Given the description of an element on the screen output the (x, y) to click on. 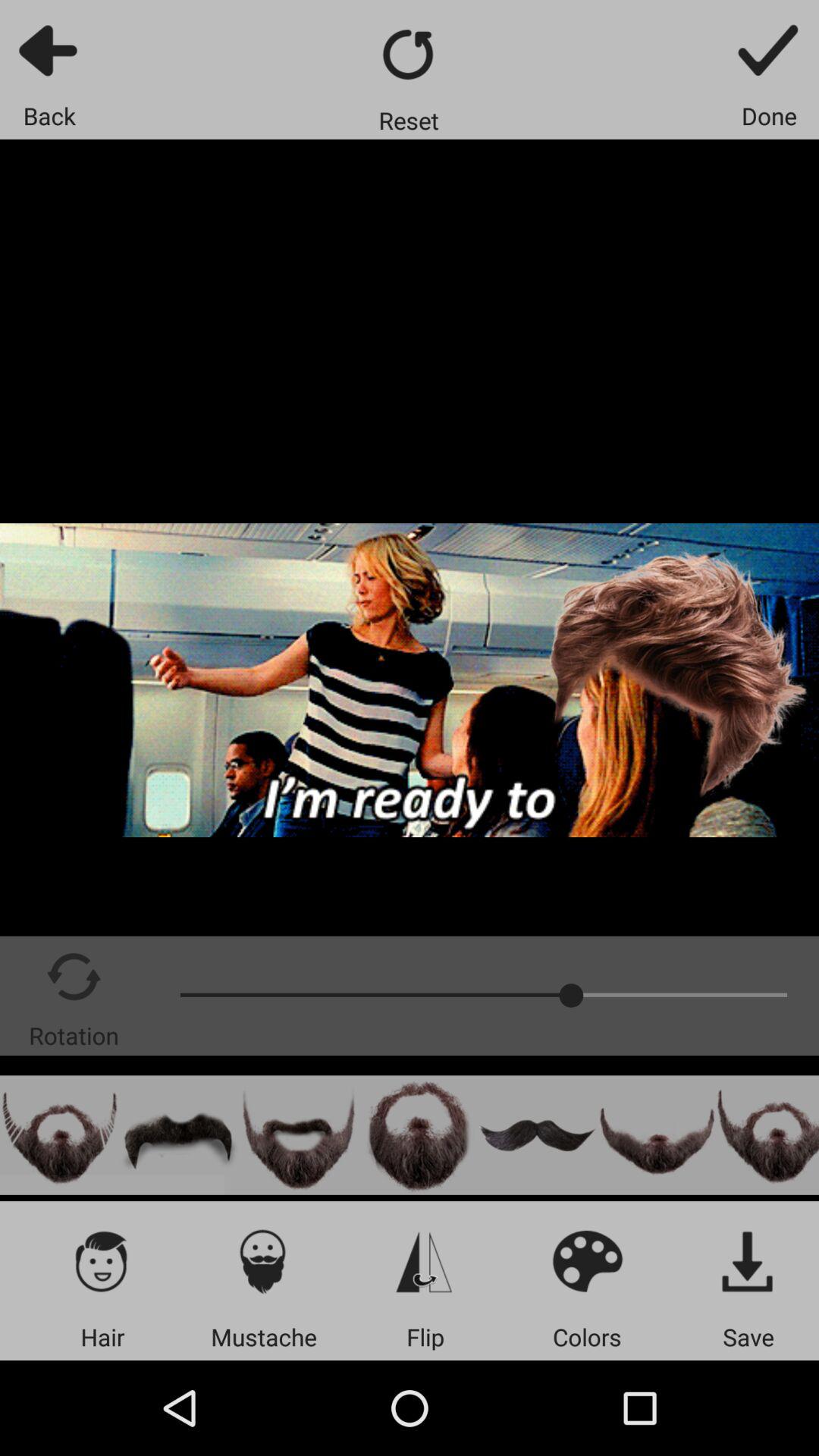
flip image (425, 1260)
